Given the description of an element on the screen output the (x, y) to click on. 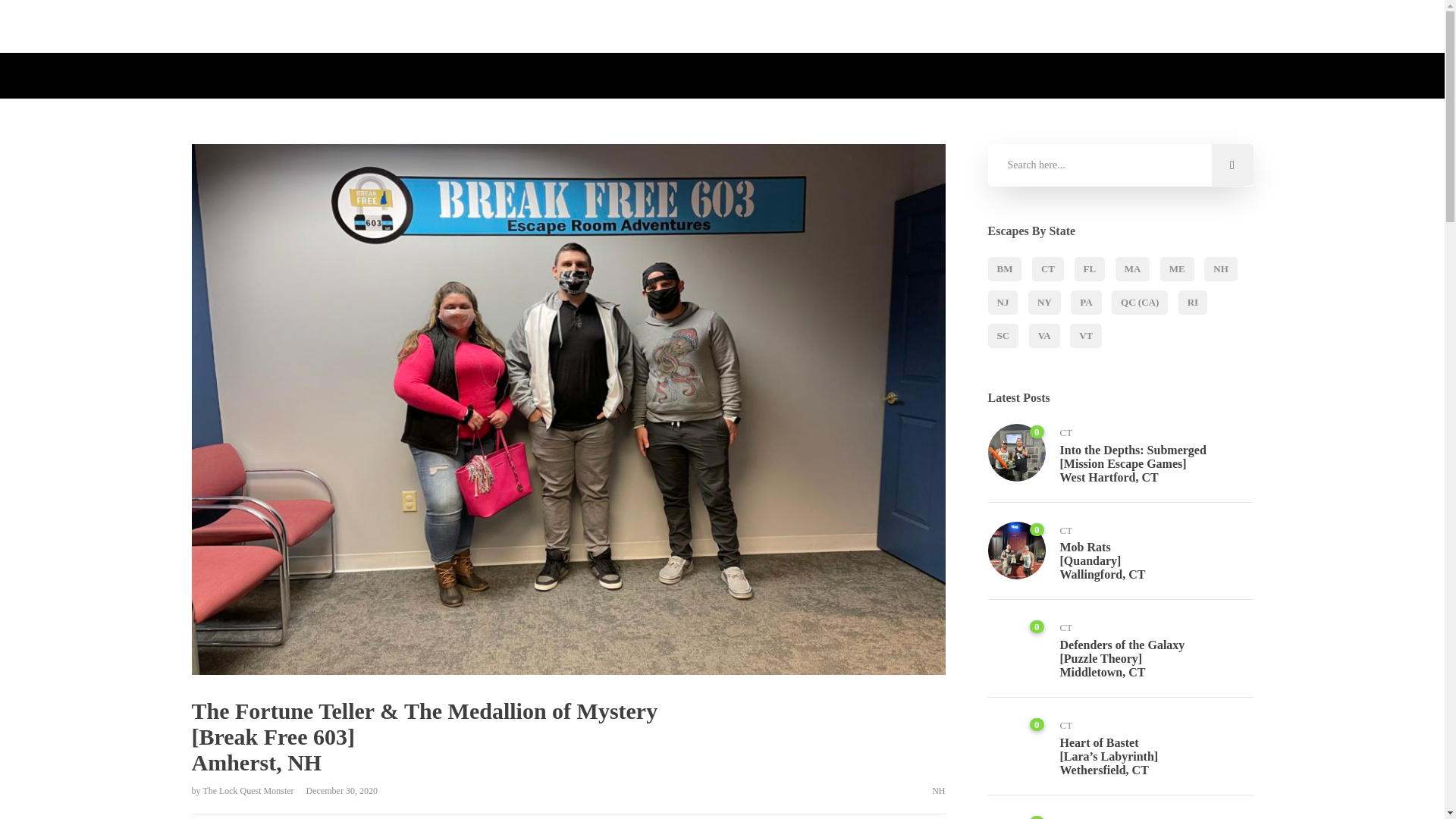
About Us (591, 26)
Top Rooms (742, 26)
FL (1089, 269)
Home (534, 26)
December 30, 2020 (337, 790)
NY (1044, 302)
CT (1048, 269)
The Lock Quest Monster (248, 790)
ME (1176, 269)
NJ (1002, 302)
